Given the description of an element on the screen output the (x, y) to click on. 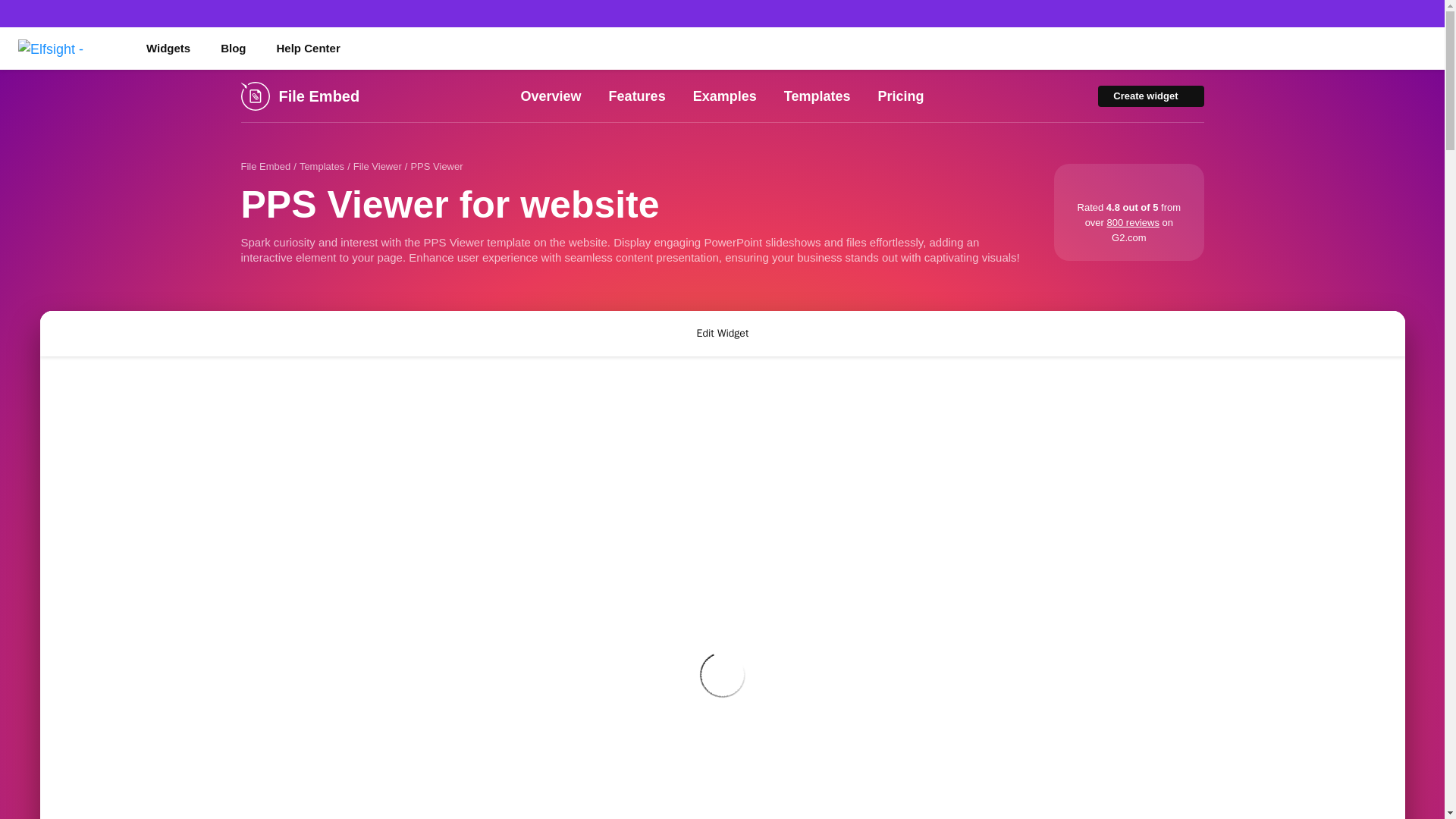
Widgets (168, 48)
Full Screen (1381, 333)
Elfsight - Premium Plugins For Websites (66, 48)
